Given the description of an element on the screen output the (x, y) to click on. 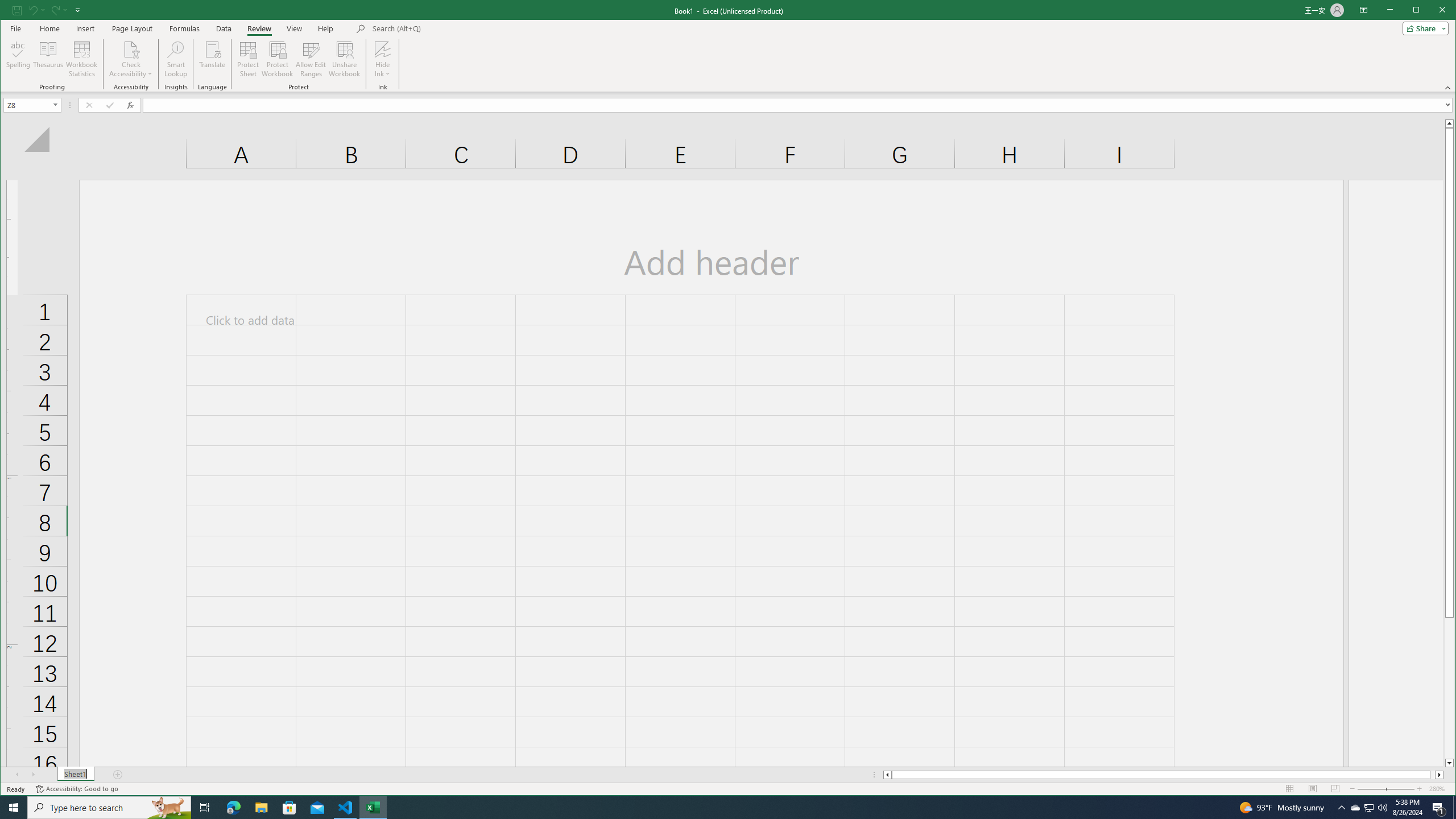
Sheet Tab (75, 774)
Formula Bar (799, 104)
Check Accessibility (130, 48)
Visual Studio Code - 1 running window (345, 807)
